Given the description of an element on the screen output the (x, y) to click on. 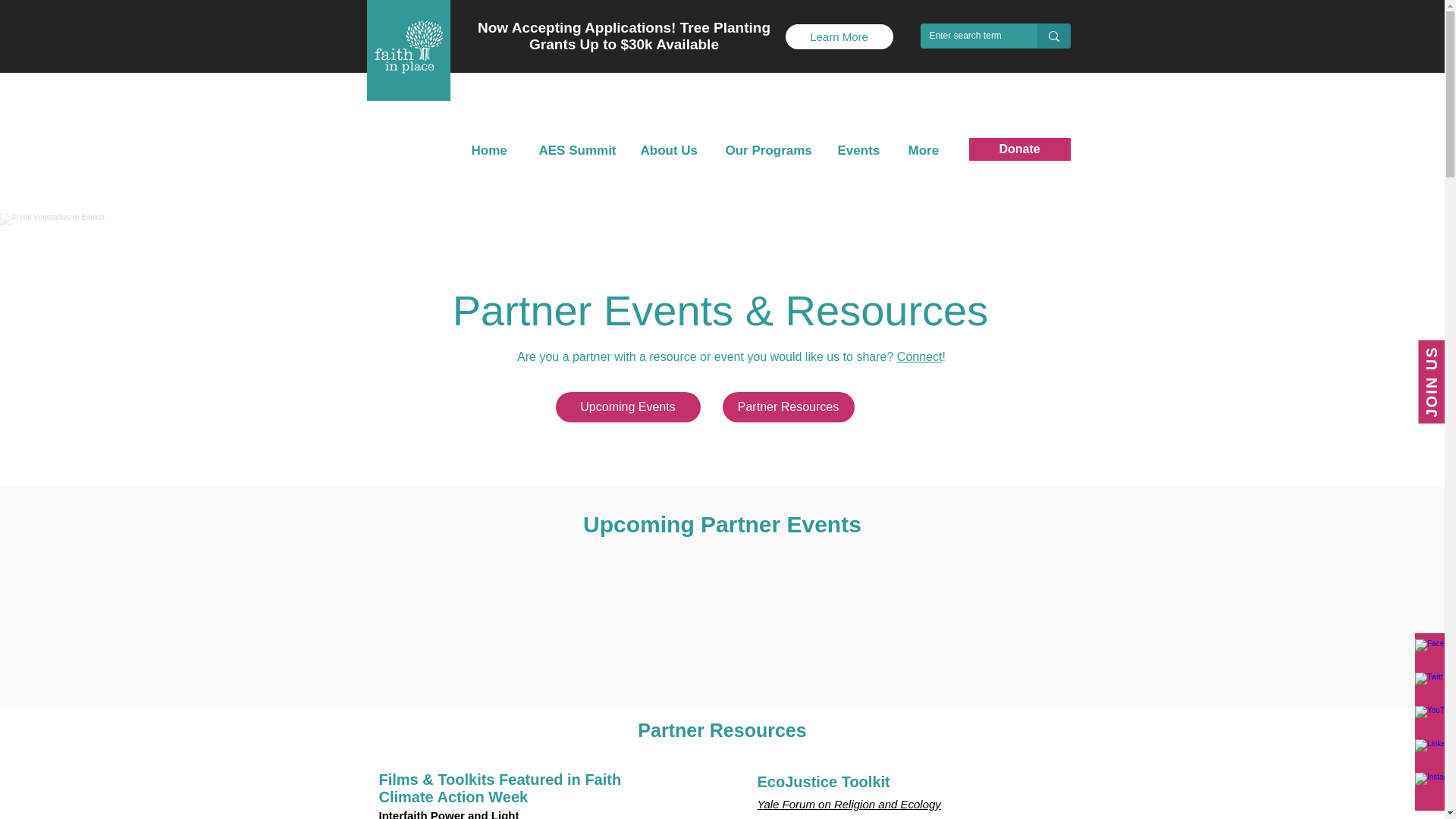
Partner Resources (787, 407)
AES Summit (577, 150)
Home (493, 150)
Connect (919, 356)
Interfaith Power and Light (448, 812)
Events (861, 150)
Upcoming Events (627, 407)
Donate (1019, 149)
About Us (671, 150)
Learn More (839, 36)
